Given the description of an element on the screen output the (x, y) to click on. 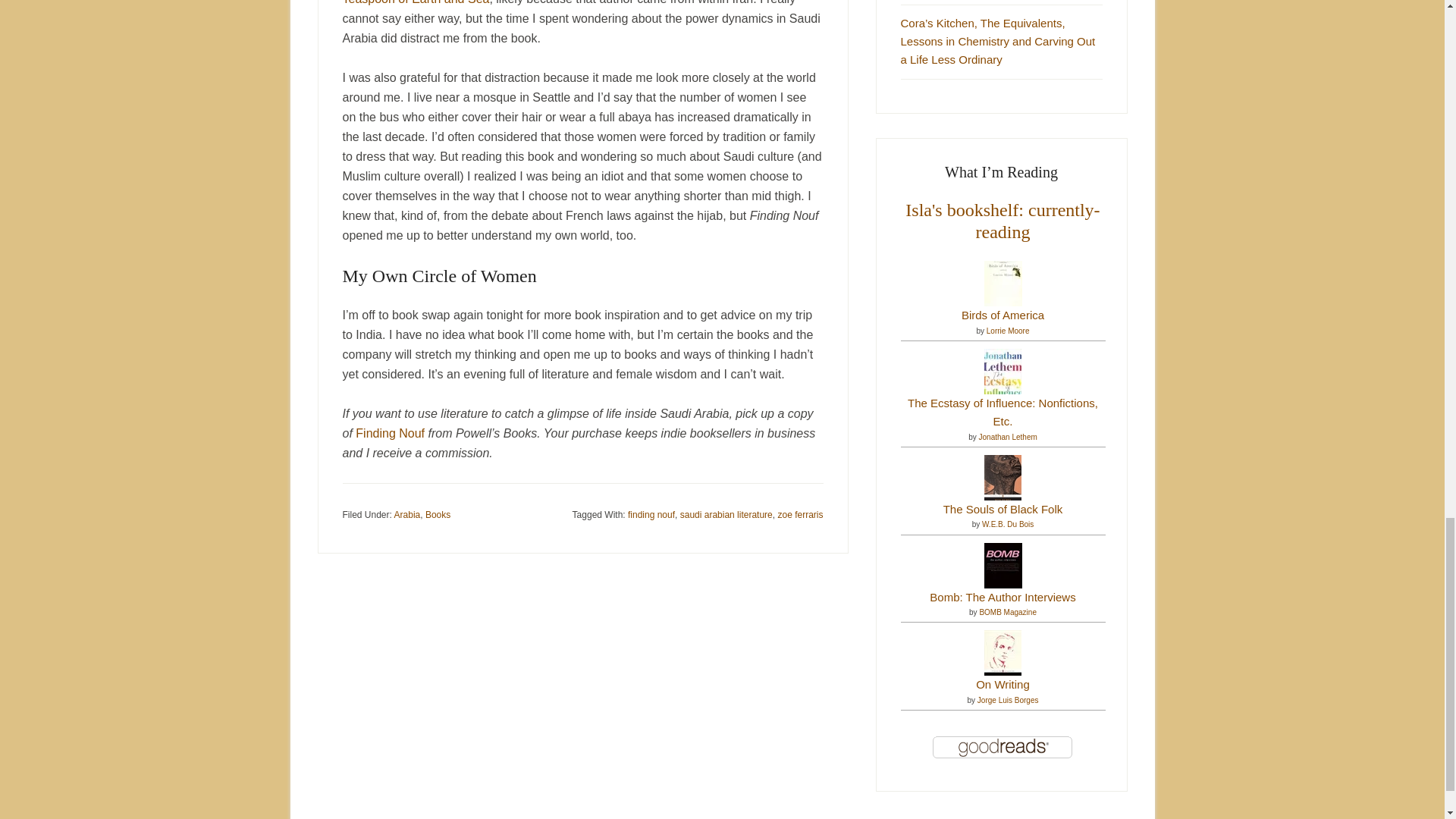
Arabia (407, 514)
Books (437, 514)
Finding Nouf (390, 432)
On Writing (1003, 682)
Birds of America (1003, 313)
saudi arabian literature (726, 514)
zoe ferraris (799, 514)
The Ecstasy of Influence: Nonfictions, Etc. (1003, 400)
